Given the description of an element on the screen output the (x, y) to click on. 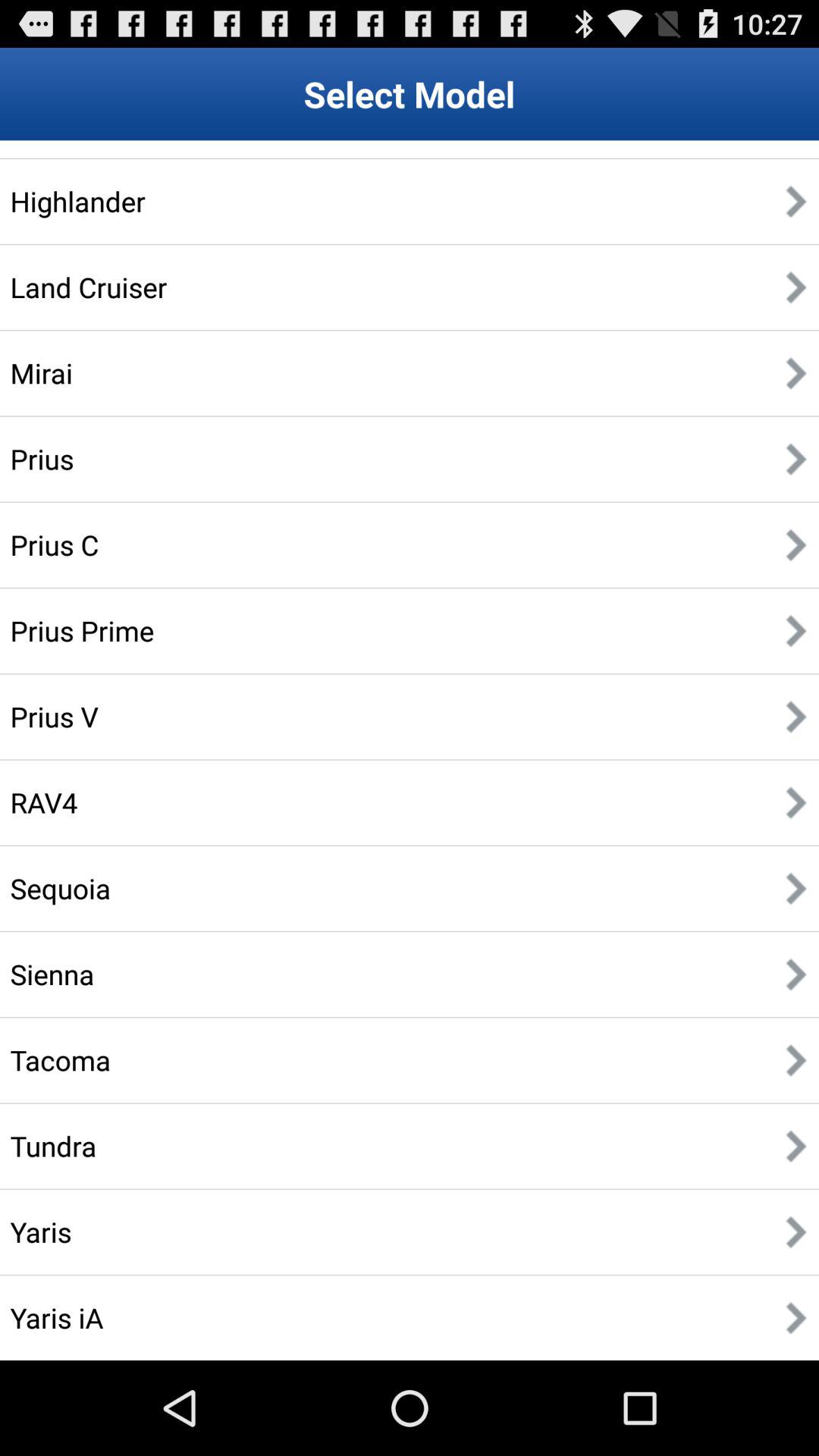
tap land cruiser item (88, 286)
